Given the description of an element on the screen output the (x, y) to click on. 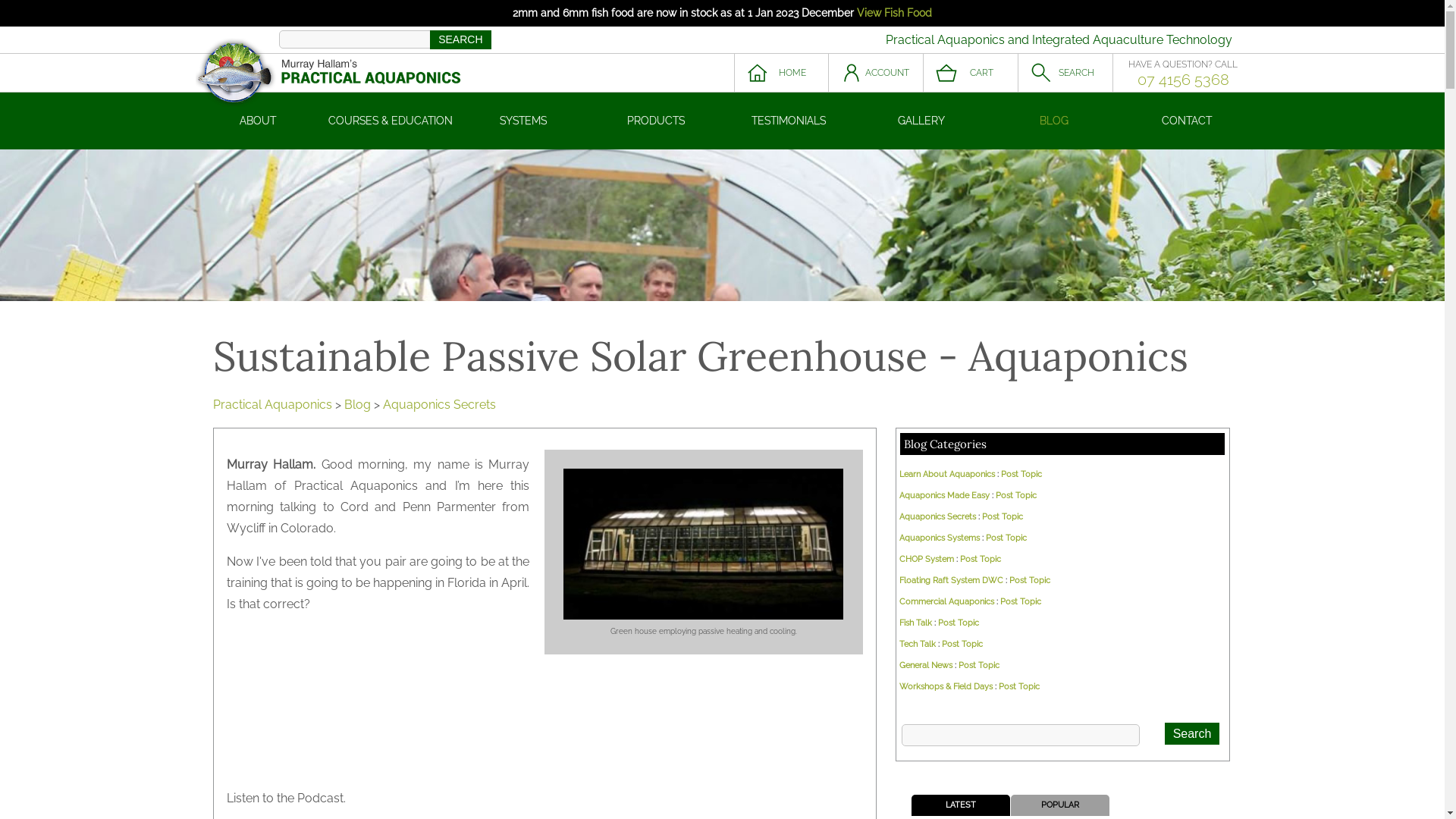
ACCOUNT Element type: text (875, 72)
Aquaponics Secrets Element type: text (937, 516)
CART Element type: text (970, 72)
View Fish Food Element type: text (893, 12)
Post Topic Element type: text (1029, 580)
Post Topic Element type: text (980, 559)
Post Topic Element type: text (961, 644)
Aquaponics Secrets Element type: text (438, 404)
Post Topic Element type: text (1021, 474)
SEARCH Element type: text (459, 39)
Aquaponics Made Easy Element type: text (944, 495)
General News Element type: text (925, 665)
Commercial Aquaponics Element type: text (946, 601)
BLOG Element type: text (1053, 120)
Learn About Aquaponics Element type: text (946, 474)
Workshops & Field Days Element type: text (945, 686)
Blog Categories Element type: text (944, 443)
Post Topic Element type: text (1005, 537)
POPULAR Element type: text (1059, 804)
COURSES & EDUCATION Element type: text (390, 120)
Post Topic Element type: text (958, 622)
LATEST Element type: text (960, 804)
GALLERY Element type: text (921, 120)
Blog Element type: text (357, 404)
Post Topic Element type: text (1015, 495)
PRODUCTS Element type: text (655, 120)
SEARCH Element type: text (1064, 72)
Floating Raft System DWC Element type: text (951, 580)
Post Topic Element type: text (1018, 686)
TESTIMONIALS Element type: text (787, 120)
ABOUT Element type: text (257, 120)
Tech Talk Element type: text (917, 644)
Practical Aquaponics Element type: text (271, 404)
Aquaponics Systems Element type: text (939, 537)
CHOP System Element type: text (926, 559)
Post Topic Element type: text (978, 665)
07 4156 5368 Element type: text (1183, 79)
CONTACT Element type: text (1186, 120)
SYSTEMS Element type: text (522, 120)
Search Element type: text (1192, 733)
Post Topic Element type: text (1020, 601)
HOME Element type: text (781, 72)
Post Topic Element type: text (1002, 516)
Fish Talk Element type: text (915, 622)
